Given the description of an element on the screen output the (x, y) to click on. 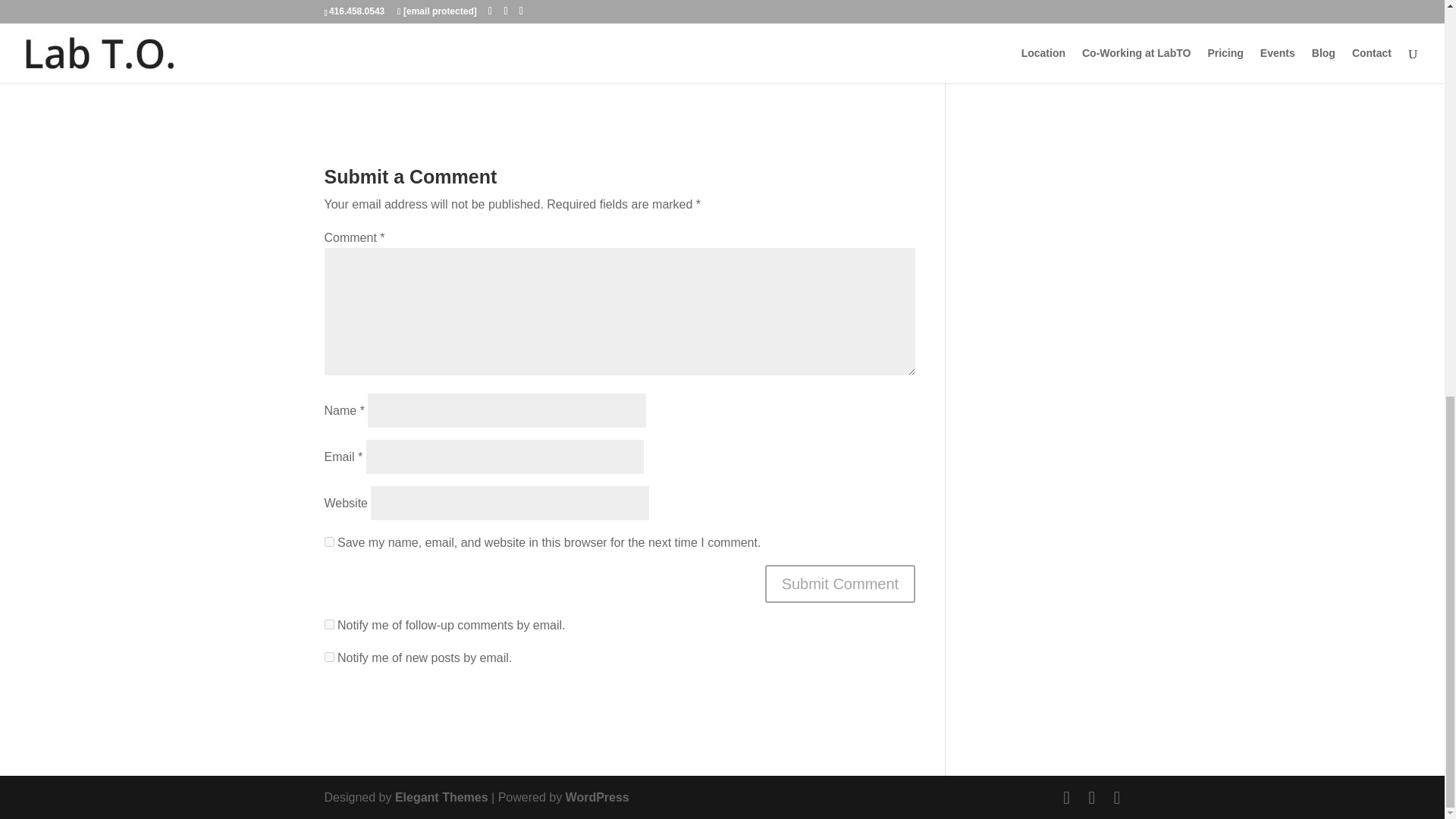
RSVP HERE (619, 28)
subscribe (329, 656)
yes (329, 542)
Submit Comment (840, 583)
Premium WordPress Themes (440, 797)
WordPress (597, 797)
subscribe (329, 624)
Submit Comment (840, 583)
Elegant Themes (440, 797)
